Given the description of an element on the screen output the (x, y) to click on. 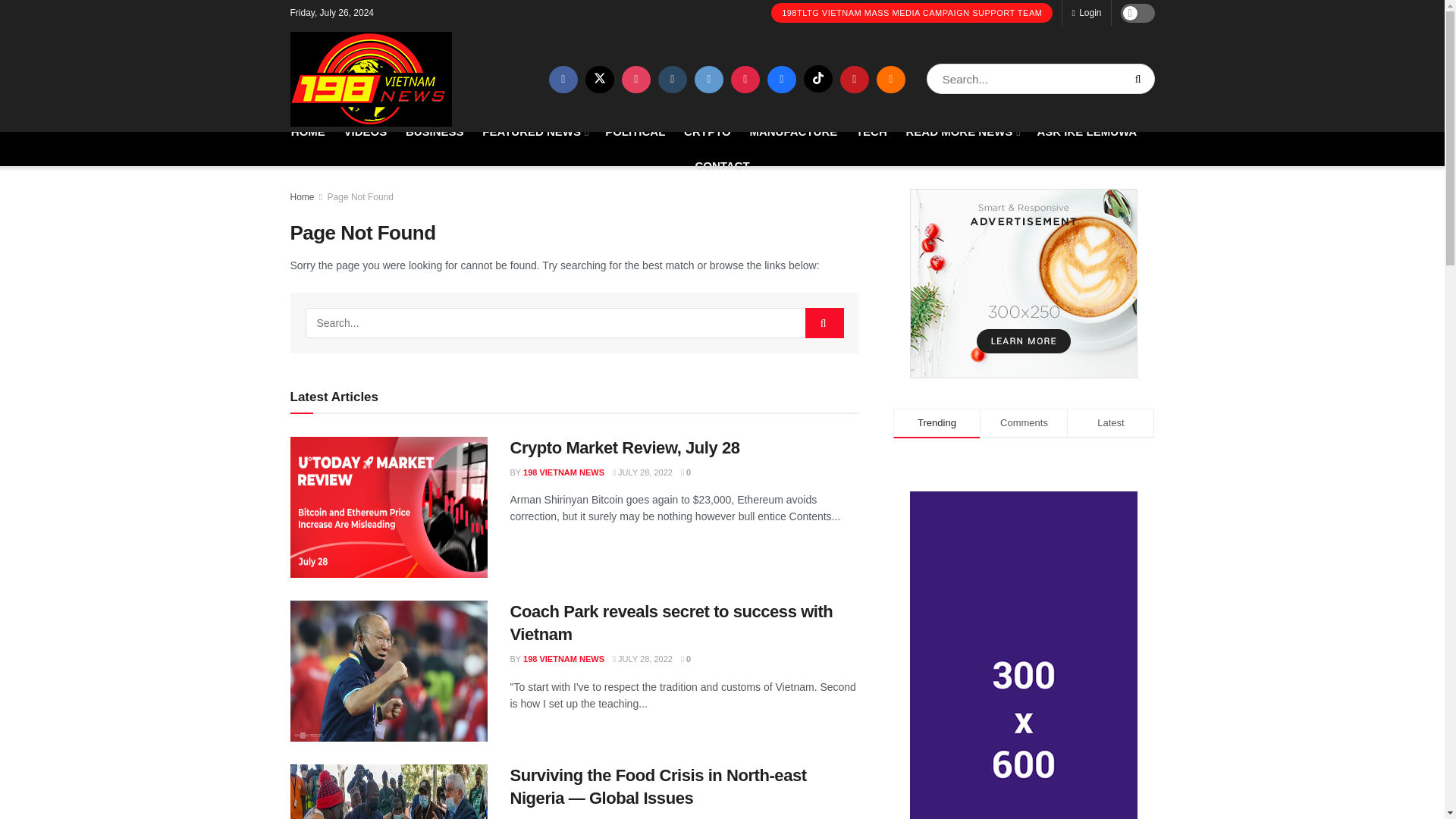
Coach Park reveals secret to success with Vietnam (387, 671)
TECH (871, 130)
HOME (307, 130)
READ MORE NEWS (961, 130)
Login (1085, 12)
CRYPTO (707, 130)
198TLTG VIETNAM MASS MEDIA CAMPAIGN SUPPORT TEAM (911, 12)
MANUFACTURE (793, 130)
FEATURED NEWS (533, 130)
BUSINESS (435, 130)
Crypto Market Review, July 28 (387, 507)
POLITICAL (635, 130)
VIDEOS (365, 130)
